Given the description of an element on the screen output the (x, y) to click on. 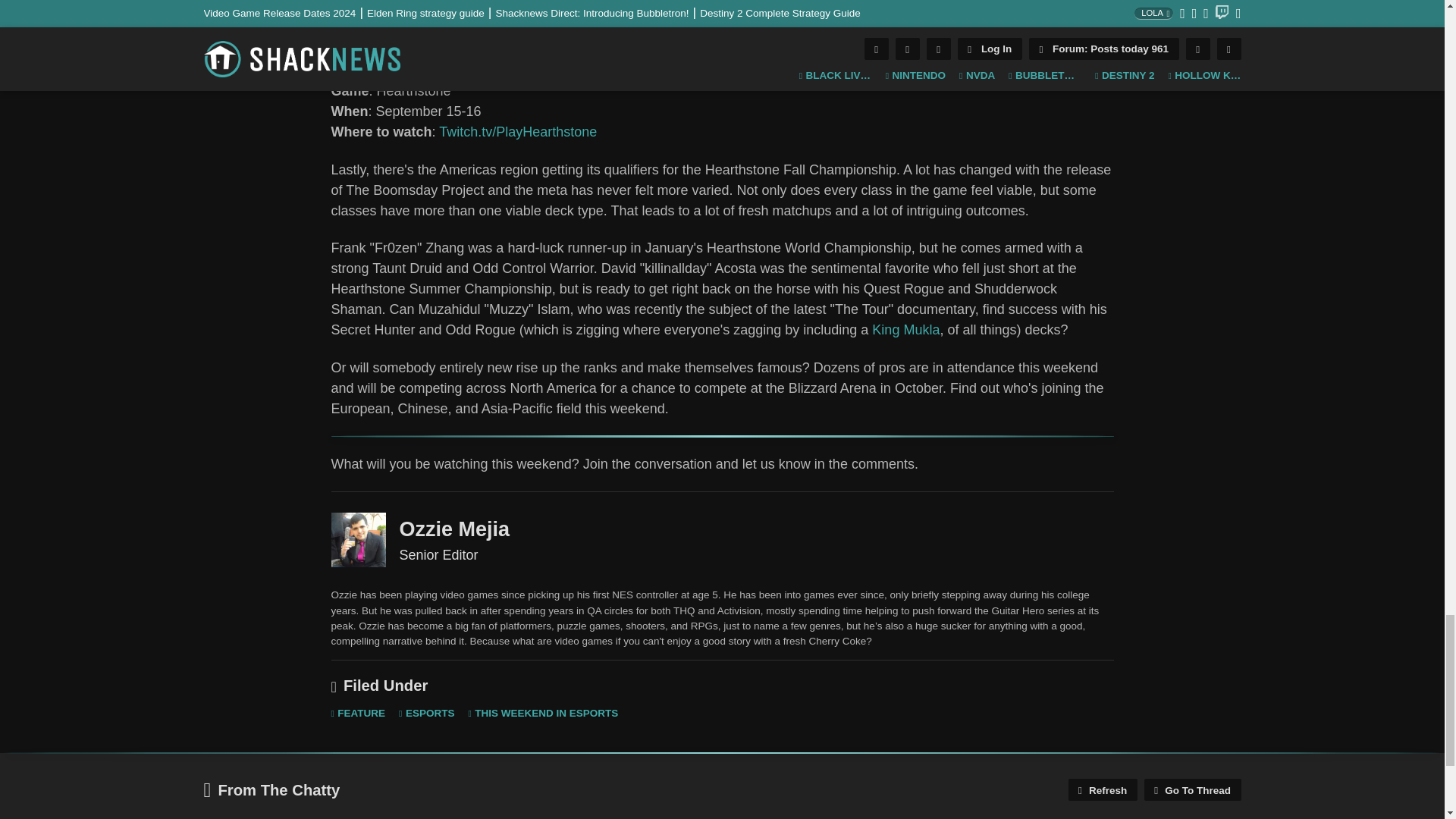
Senior Editor (357, 539)
